Given the description of an element on the screen output the (x, y) to click on. 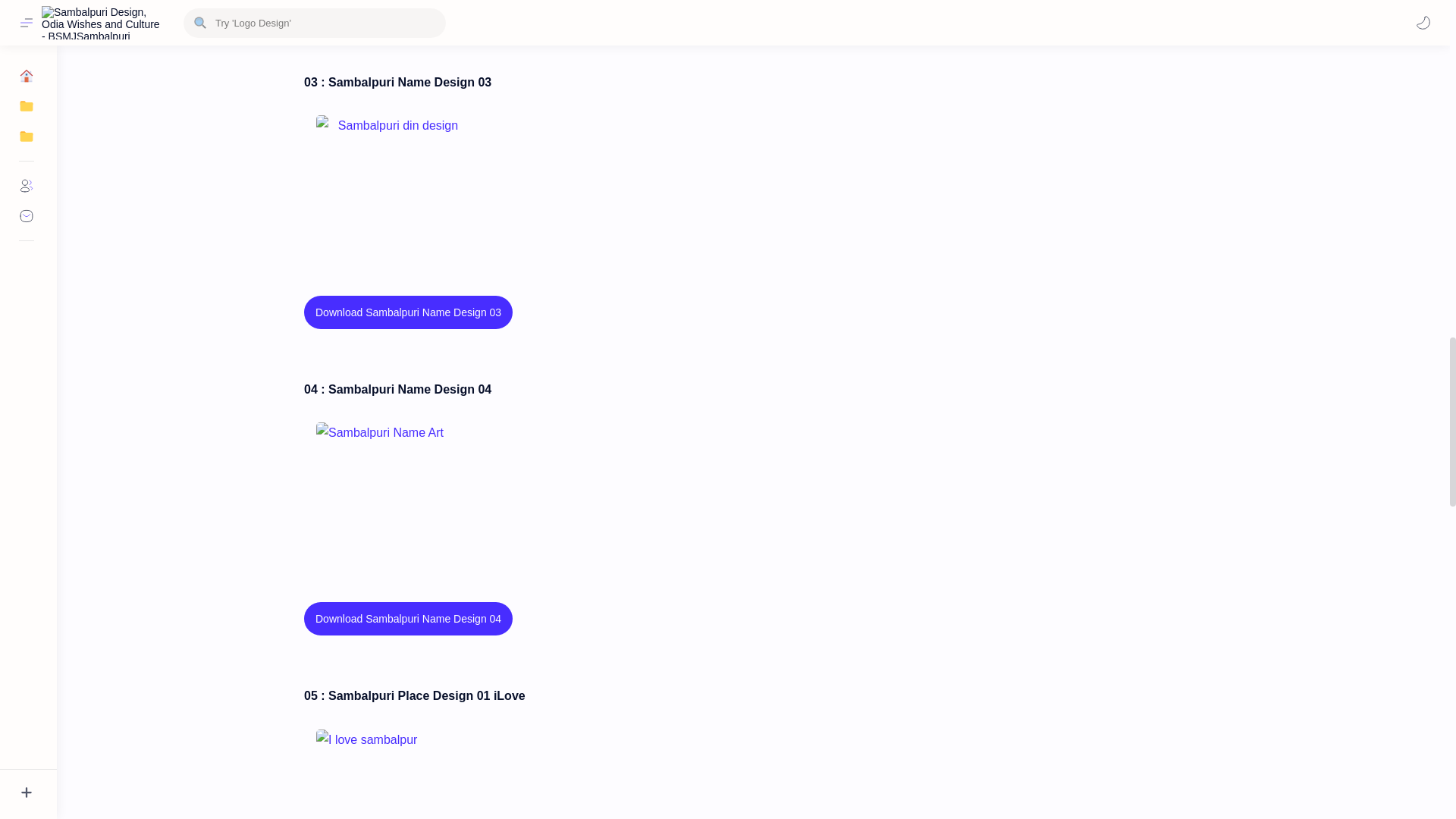
I love sambalpur (391, 774)
Sambalpuri din design (391, 190)
Sambalpuri Name Art (391, 498)
